Given the description of an element on the screen output the (x, y) to click on. 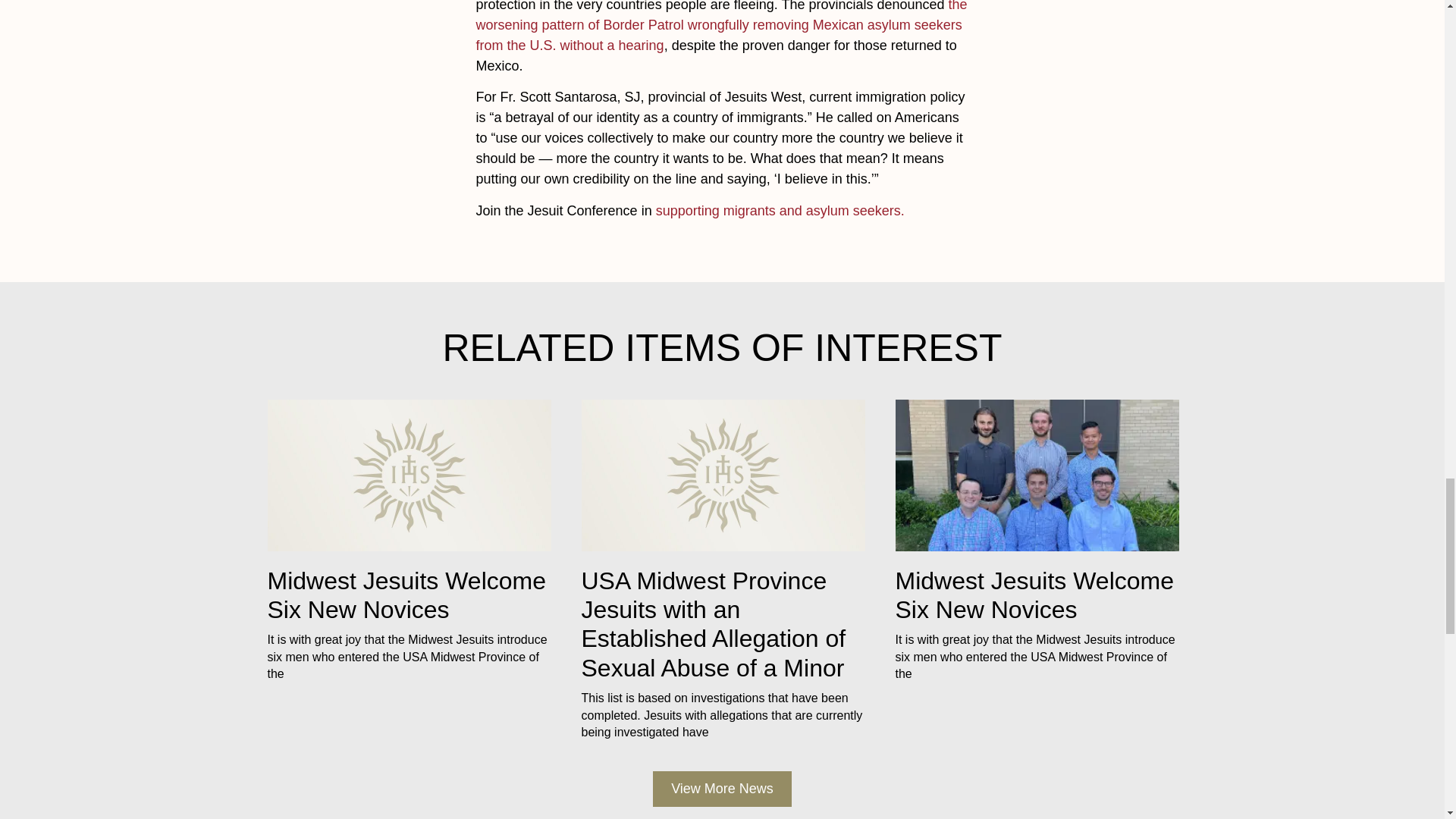
Midwest Jesuits Welcome Six New Novices (1034, 595)
View More News (722, 788)
Midwest Jesuits Welcome Six New Novices (406, 595)
supporting migrants and asylum seekers. (780, 210)
